Given the description of an element on the screen output the (x, y) to click on. 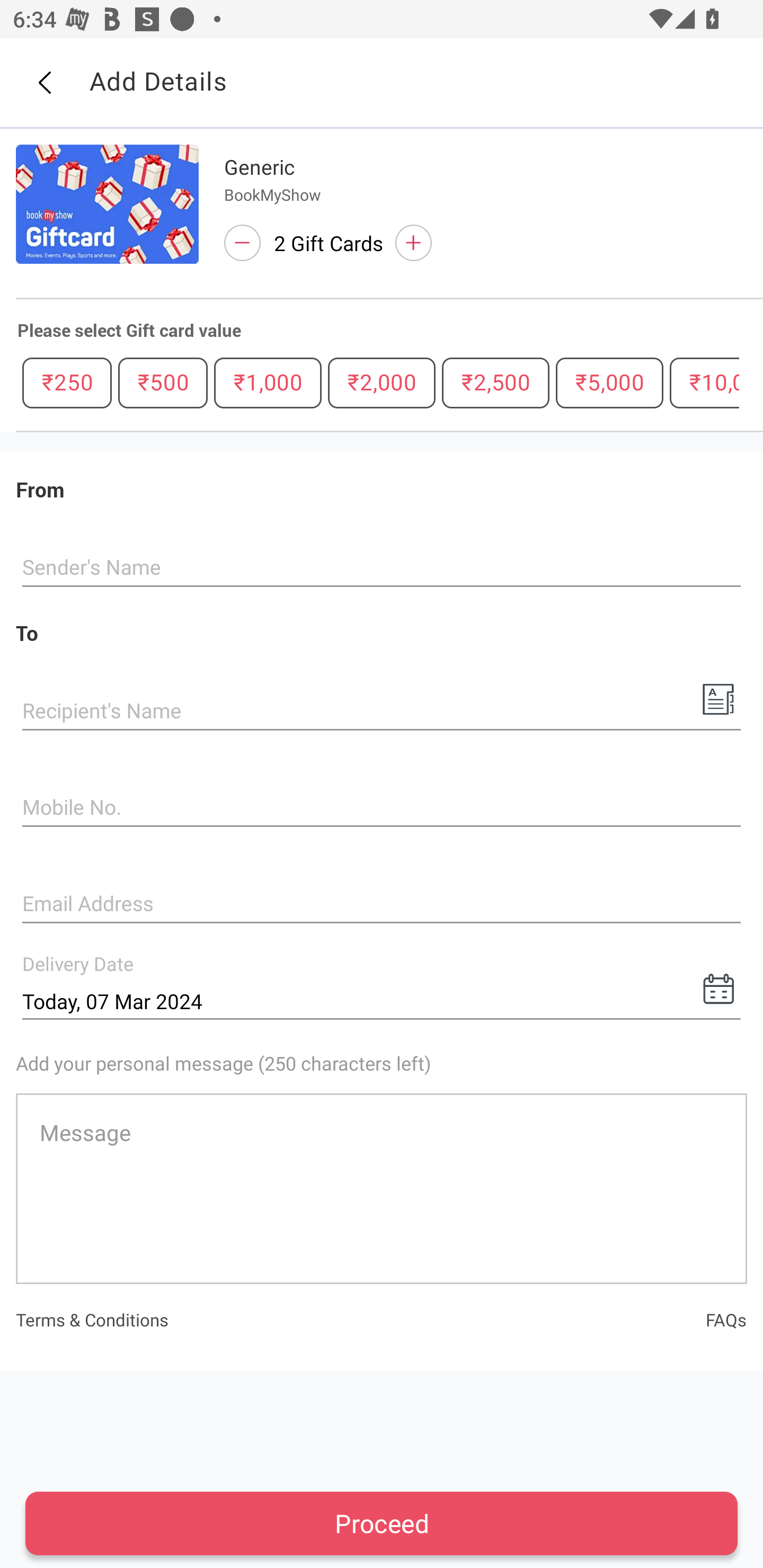
Back (44, 82)
Minus (242, 242)
Plus (413, 242)
₹250 (67, 382)
₹500 (162, 382)
₹1,000 (267, 382)
₹2,000 (381, 382)
₹2,500 (495, 382)
₹5,000 (609, 382)
Sender's Name (381, 567)
Recipient's Name (381, 712)
Mobile No. (381, 807)
Email Address (381, 905)
Today, 07 Mar 2024 (381, 1000)
Message (381, 1188)
FAQs (725, 1319)
Proceed (381, 1523)
